Given the description of an element on the screen output the (x, y) to click on. 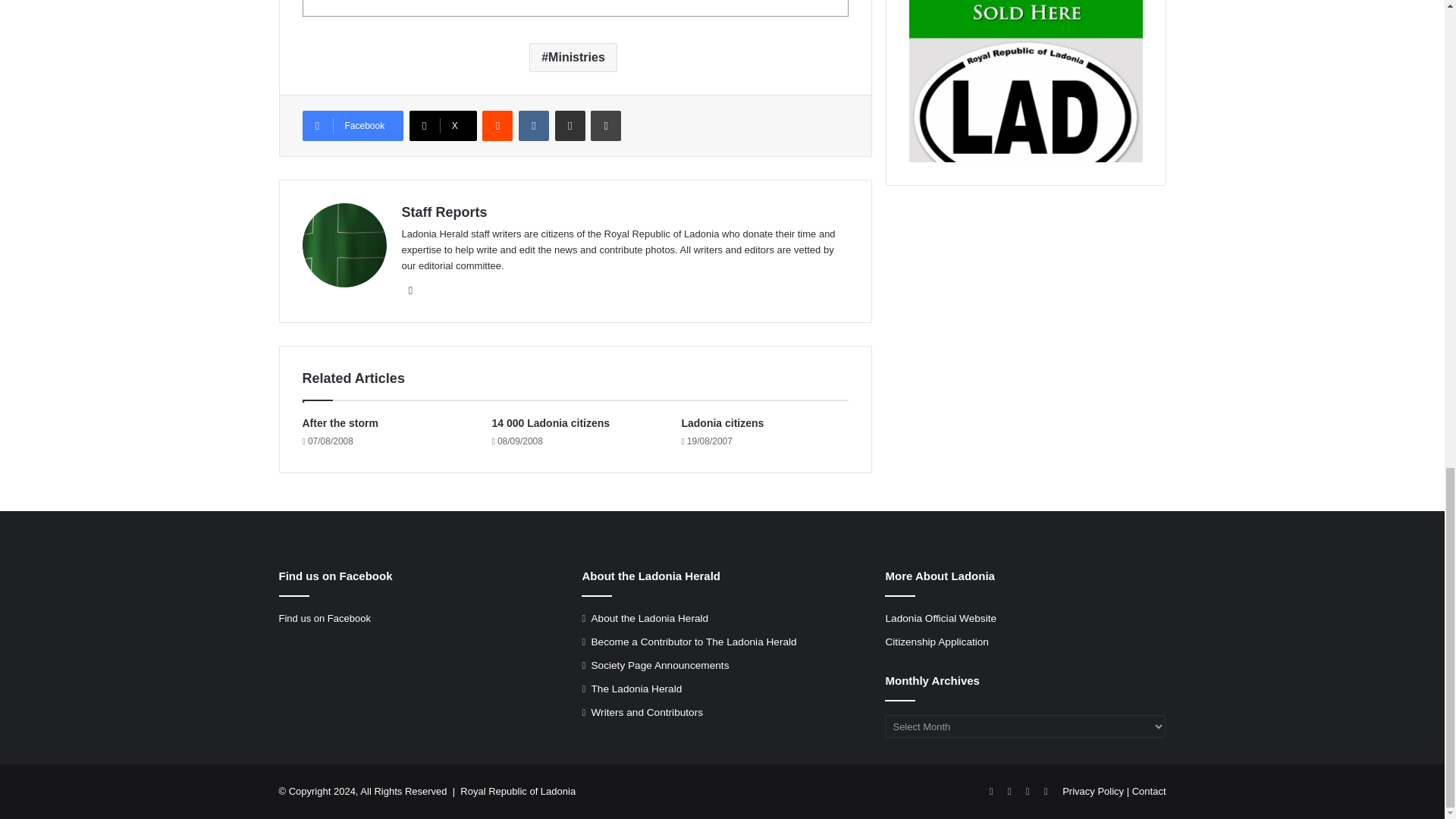
Facebook (352, 125)
After the storm (339, 422)
Facebook (352, 125)
Share via Email (569, 125)
Reddit (496, 125)
VKontakte (533, 125)
Share via Email (569, 125)
Staff Reports (444, 212)
Print (606, 125)
14 000 Ladonia citizens (551, 422)
